Given the description of an element on the screen output the (x, y) to click on. 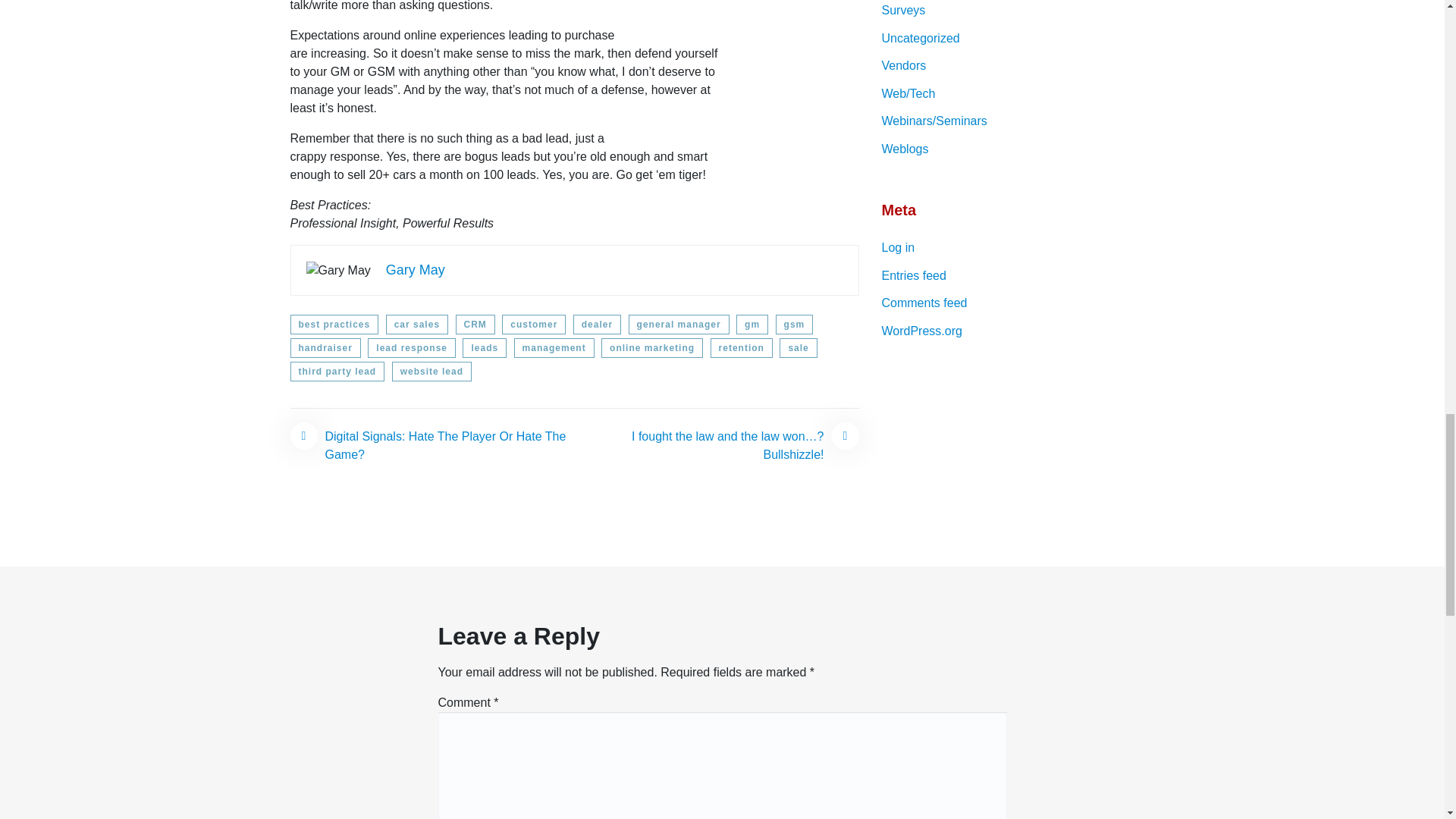
leads (484, 347)
Gary May (415, 269)
gm (752, 324)
sale (797, 347)
management (553, 347)
online marketing (652, 347)
customer (534, 324)
dealer (597, 324)
Digital Signals: Hate The Player Or Hate The Game? (431, 445)
best practices (333, 324)
website lead (431, 371)
CRM (475, 324)
general manager (678, 324)
gsm (794, 324)
retention (741, 347)
